Given the description of an element on the screen output the (x, y) to click on. 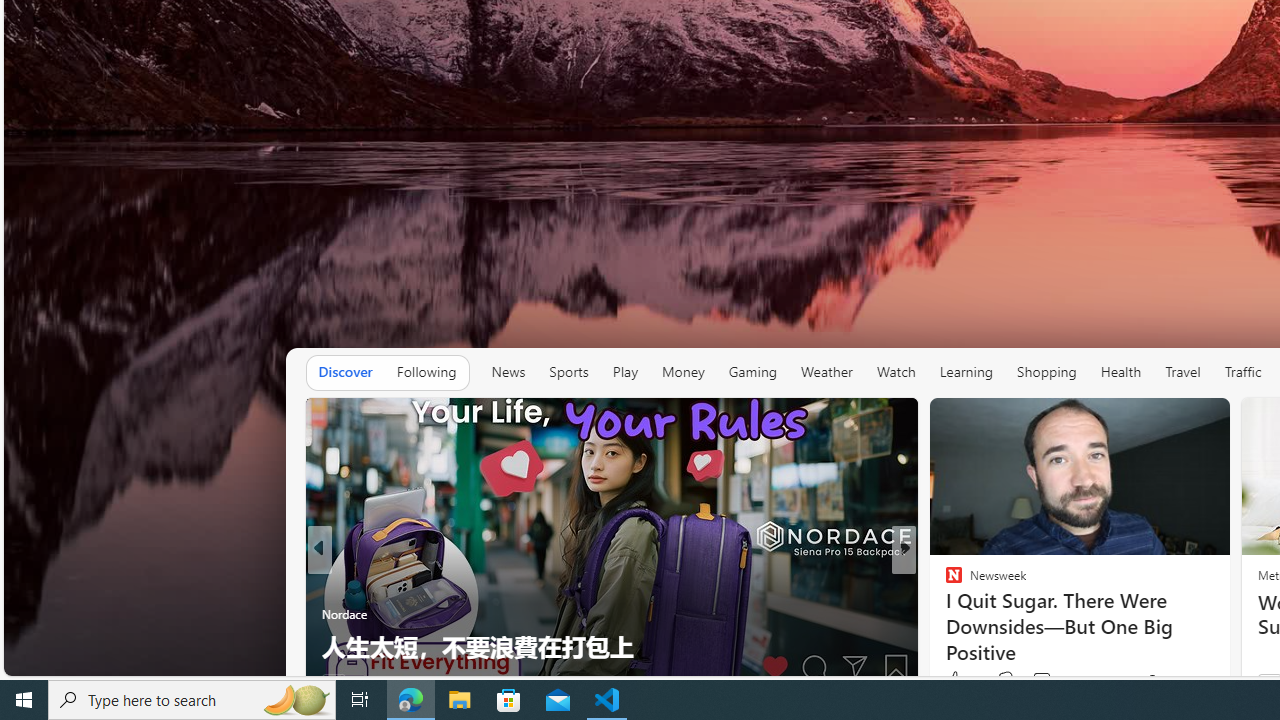
Sports (569, 372)
Shopping (1046, 372)
Health (1121, 371)
Play (625, 372)
Health (1121, 372)
You're following Newsweek (1179, 679)
Money (682, 371)
Travel (1183, 371)
Sports (568, 371)
Travel (1183, 372)
1k Like (961, 680)
